Given the description of an element on the screen output the (x, y) to click on. 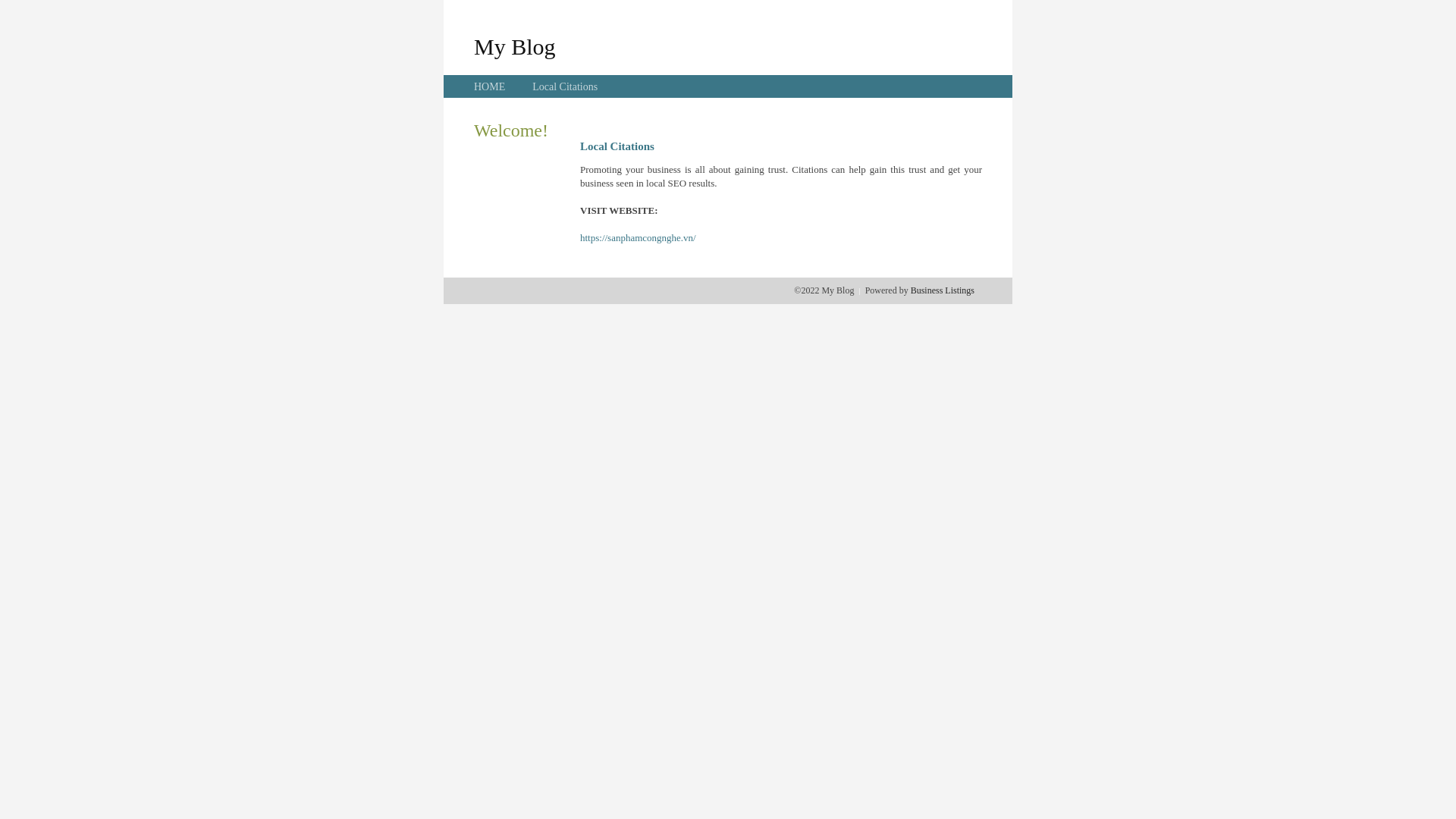
My Blog Element type: text (514, 46)
Business Listings Element type: text (942, 290)
Local Citations Element type: text (564, 86)
HOME Element type: text (489, 86)
https://sanphamcongnghe.vn/ Element type: text (638, 237)
